Given the description of an element on the screen output the (x, y) to click on. 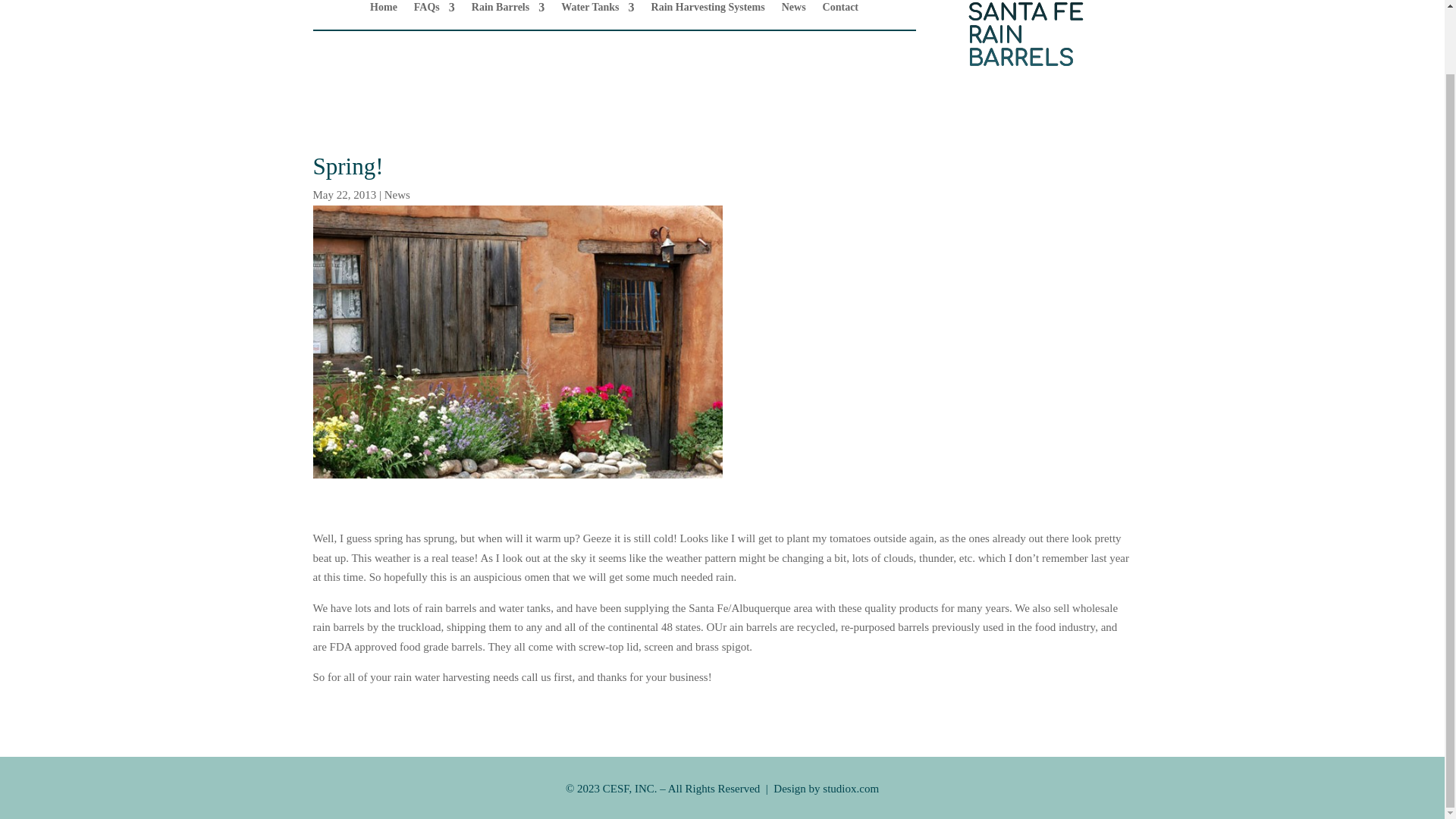
JElogo (1025, 36)
Adobe Sprintime Flowers (517, 341)
News (793, 10)
News (397, 194)
FAQs (433, 10)
Rain Barrels (507, 10)
Home (383, 10)
Rain Harvesting Systems (707, 10)
Contact (840, 10)
Water Tanks (596, 10)
